Given the description of an element on the screen output the (x, y) to click on. 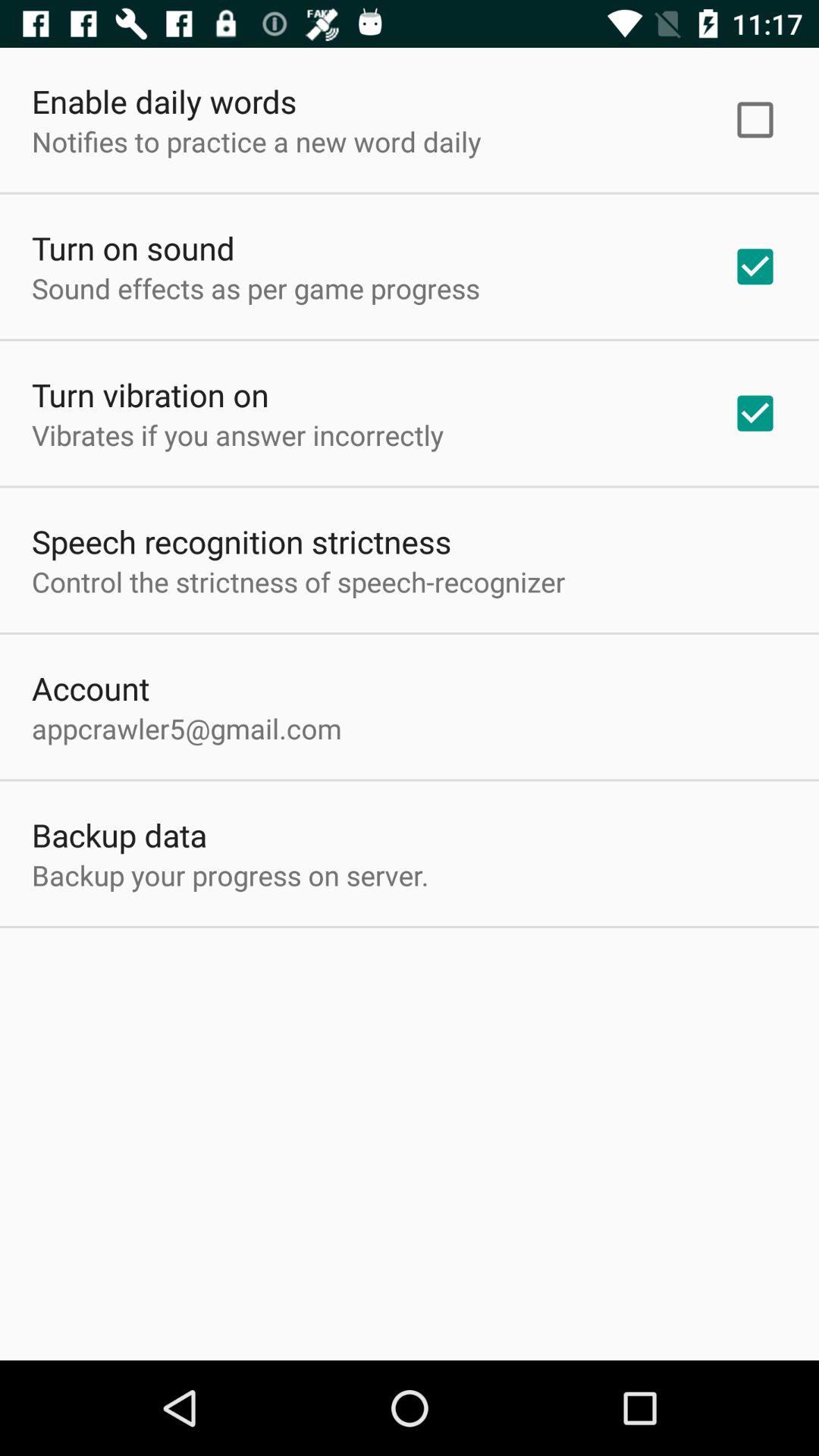
turn on the icon above backup your progress icon (119, 834)
